Given the description of an element on the screen output the (x, y) to click on. 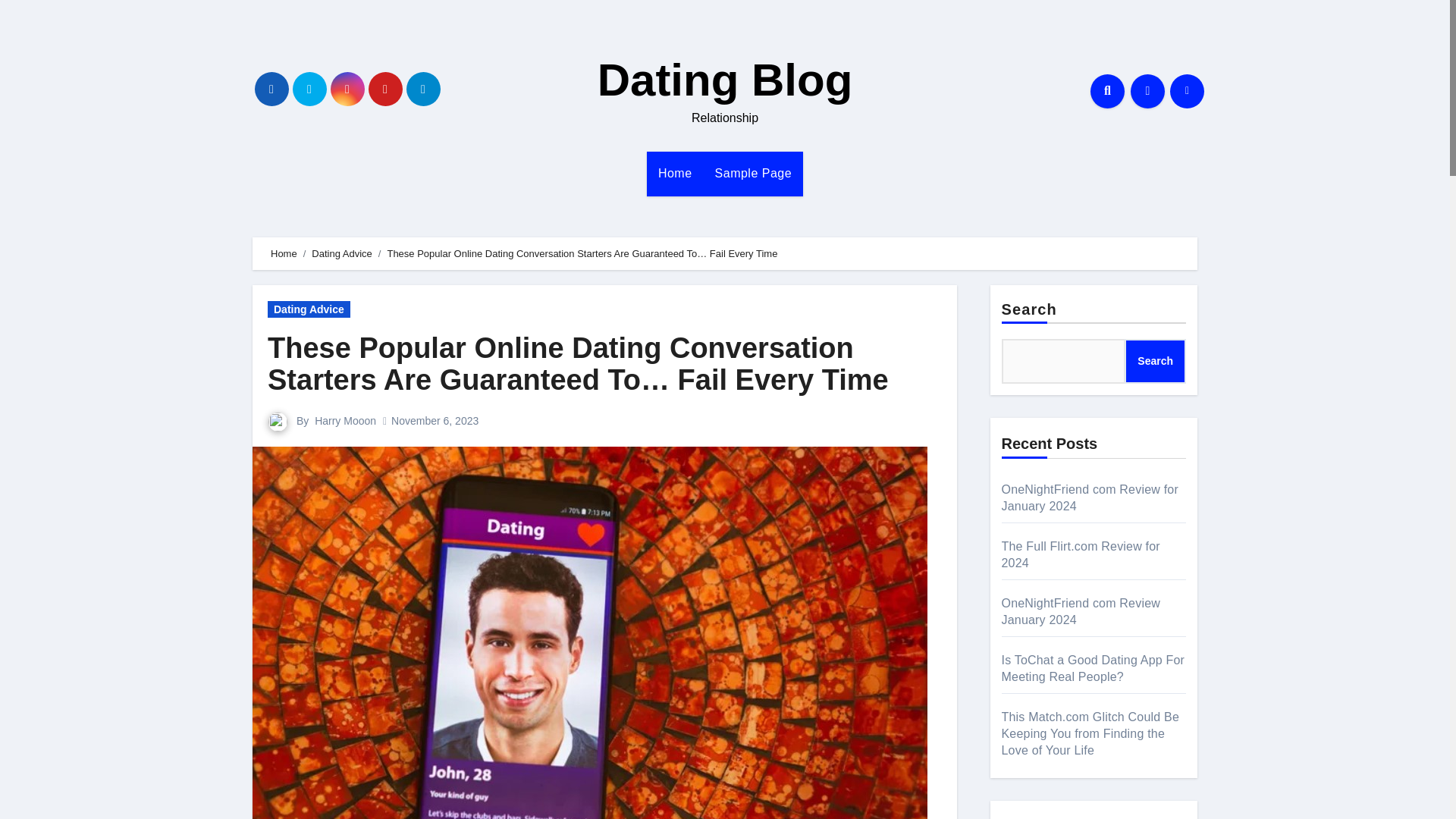
Home (674, 173)
November 6, 2023 (435, 420)
Dating Blog (724, 79)
Dating Advice (308, 309)
Dating Advice (341, 253)
Sample Page (753, 173)
Harry Mooon (344, 420)
Home (283, 253)
Home (674, 173)
